Given the description of an element on the screen output the (x, y) to click on. 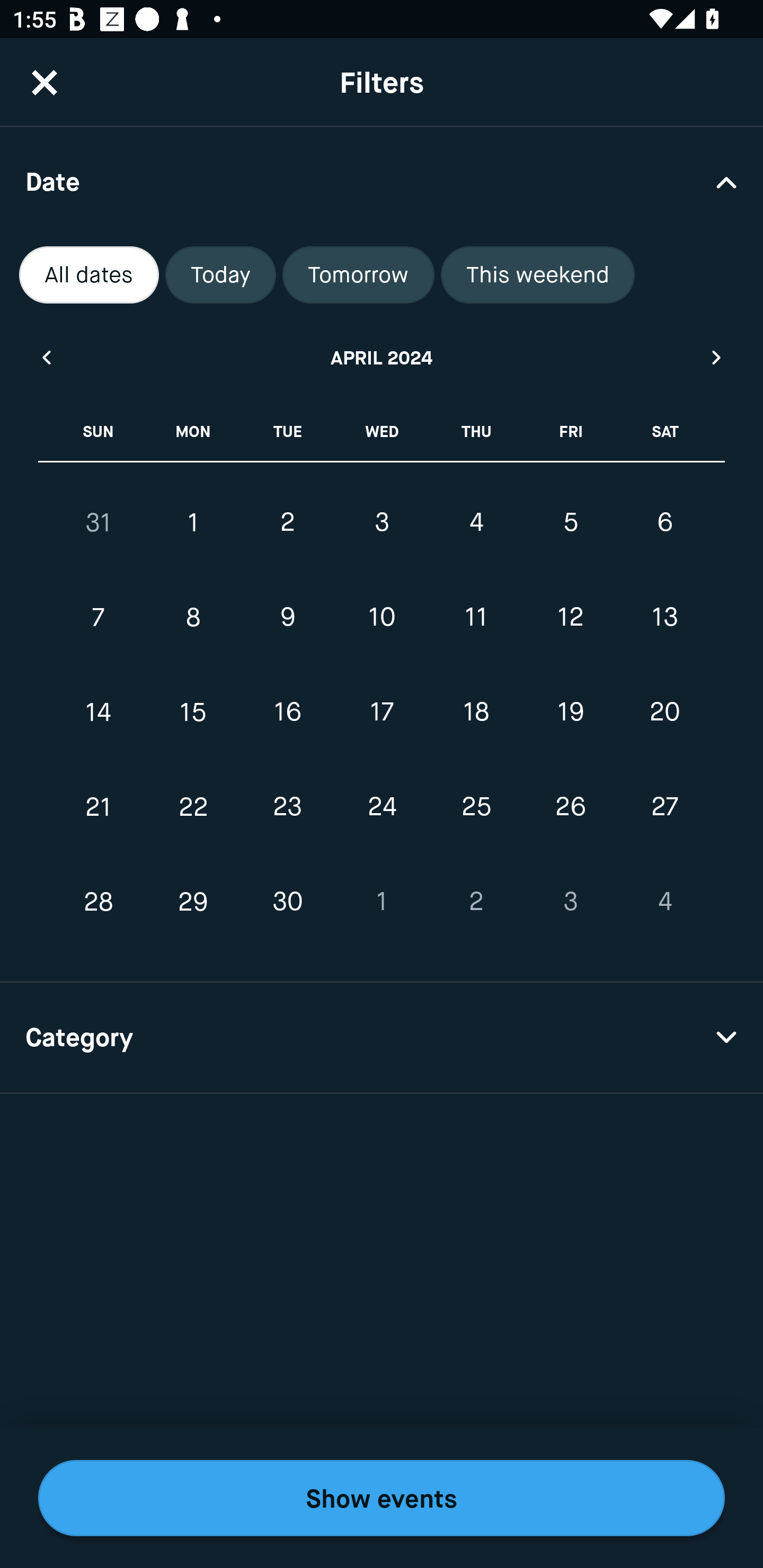
CloseButton (44, 82)
Date Drop Down Arrow (381, 181)
All dates (88, 274)
Today (220, 274)
Tomorrow (358, 274)
This weekend (537, 274)
Previous (45, 357)
Next (717, 357)
31 (98, 522)
1 (192, 522)
2 (287, 522)
3 (381, 522)
4 (475, 522)
5 (570, 522)
6 (664, 522)
7 (98, 617)
8 (192, 617)
9 (287, 617)
10 (381, 617)
11 (475, 617)
12 (570, 617)
13 (664, 617)
14 (98, 711)
15 (192, 711)
16 (287, 711)
17 (381, 711)
18 (475, 711)
19 (570, 711)
20 (664, 711)
21 (98, 806)
22 (192, 806)
23 (287, 806)
24 (381, 806)
25 (475, 806)
26 (570, 806)
27 (664, 806)
28 (98, 901)
29 (192, 901)
30 (287, 901)
1 (381, 901)
2 (475, 901)
3 (570, 901)
4 (664, 901)
Category Drop Down Arrow (381, 1038)
Show events (381, 1497)
